Given the description of an element on the screen output the (x, y) to click on. 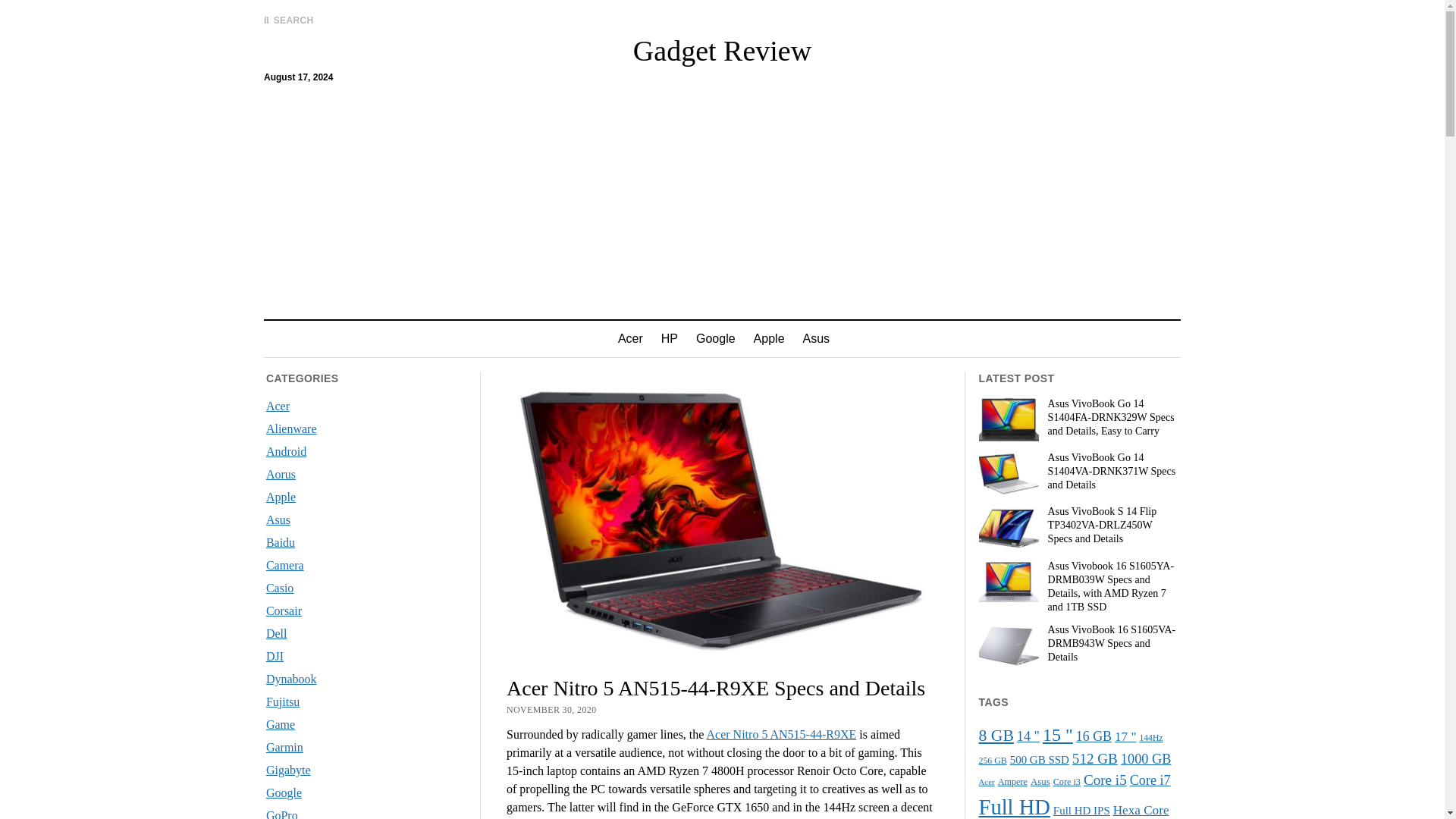
Casio (280, 587)
Search (945, 129)
Aorus (280, 473)
Gadget Review (721, 50)
Android (285, 451)
Acer (630, 339)
Camera (285, 564)
Fujitsu (282, 701)
Apple (280, 496)
Garmin (284, 747)
